Given the description of an element on the screen output the (x, y) to click on. 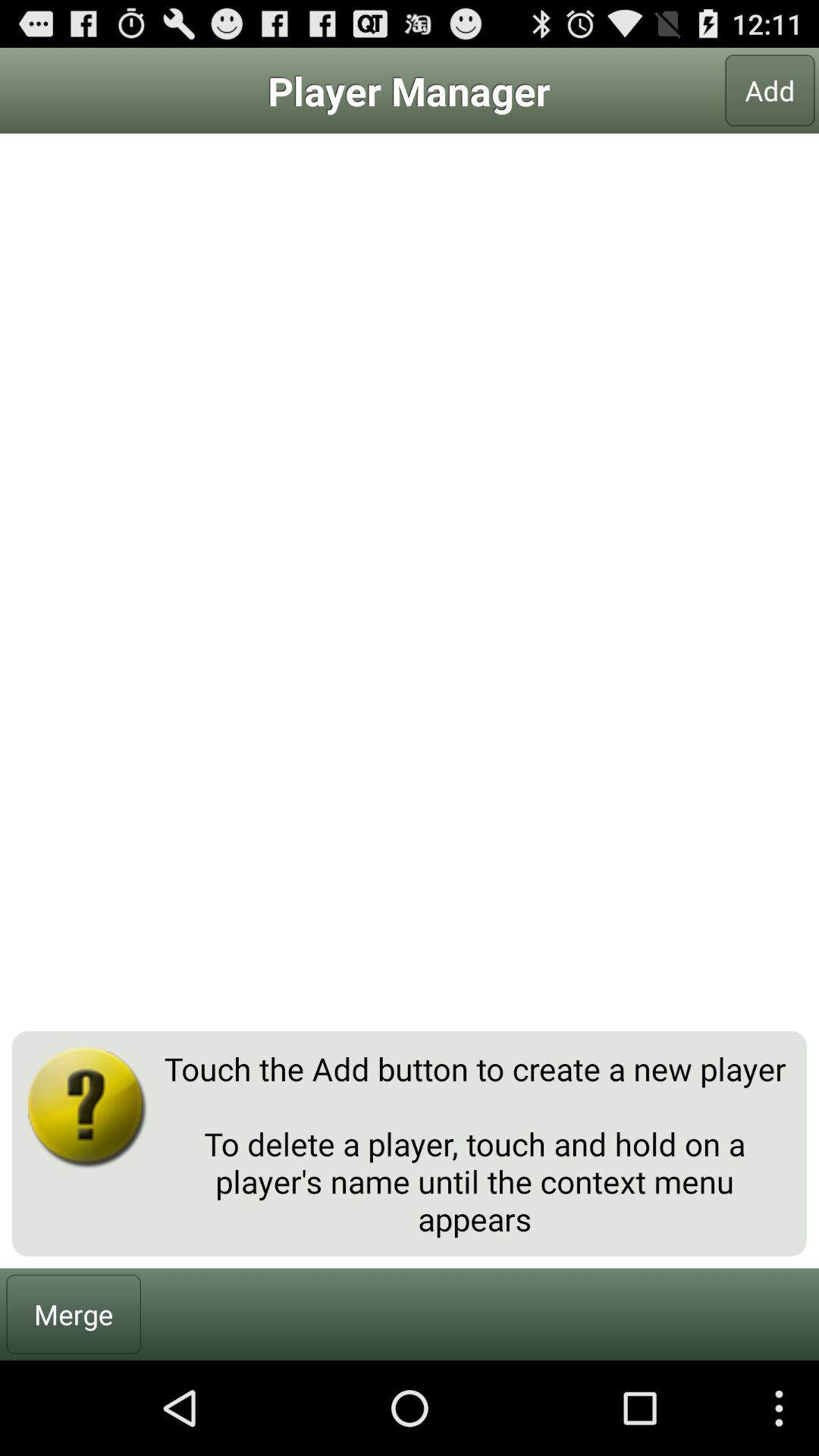
select the merge item (73, 1314)
